Given the description of an element on the screen output the (x, y) to click on. 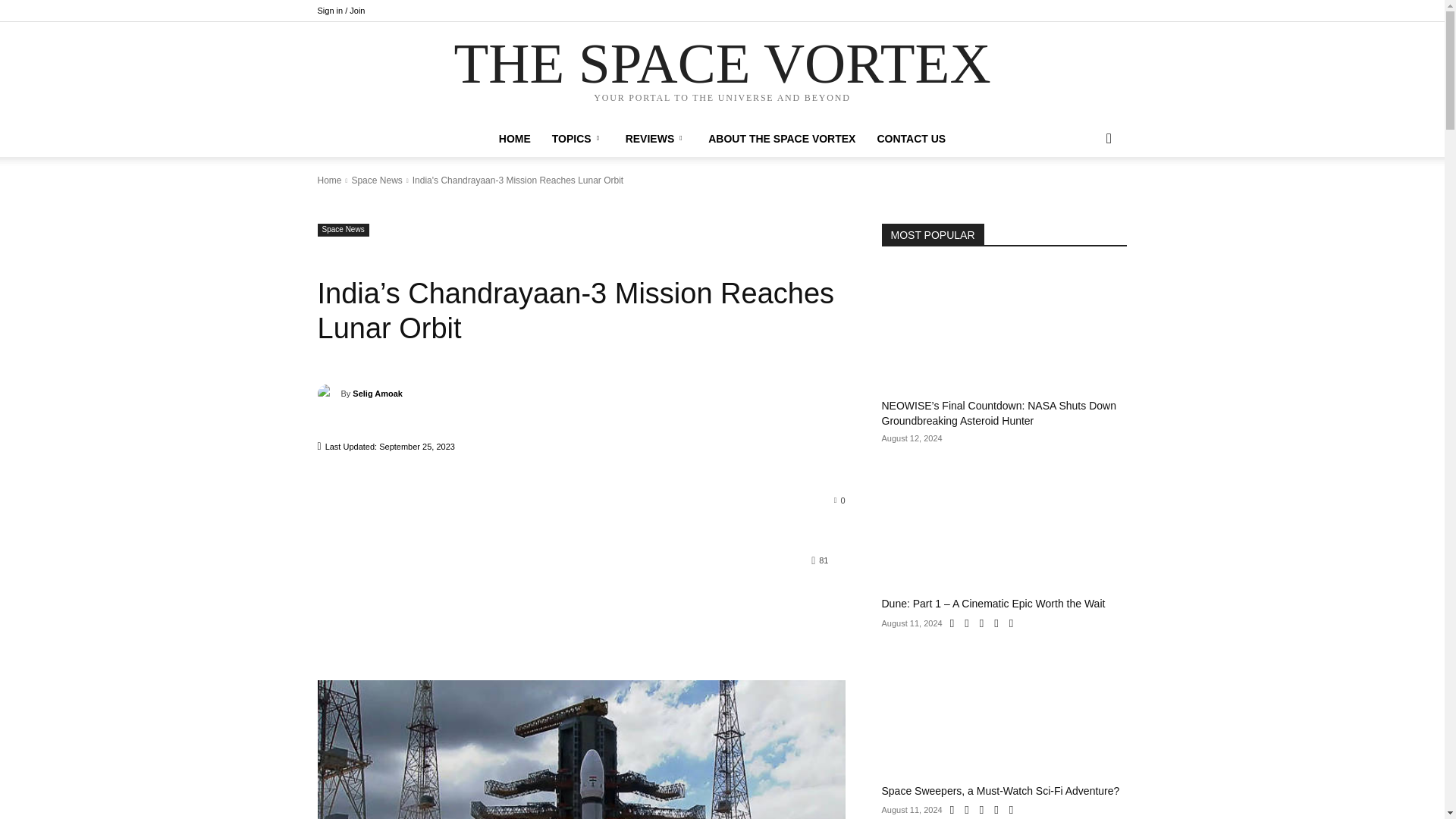
HOME (514, 138)
Selig Amoak (377, 393)
gettyimages-1531913109-612x612 (580, 749)
Home (328, 180)
Search (1085, 199)
Space News (342, 229)
THE SPACE VORTEX YOUR PORTAL TO THE UNIVERSE AND BEYOND (721, 72)
TOPICS (577, 138)
Space News (375, 180)
View all posts in Space News (375, 180)
